Given the description of an element on the screen output the (x, y) to click on. 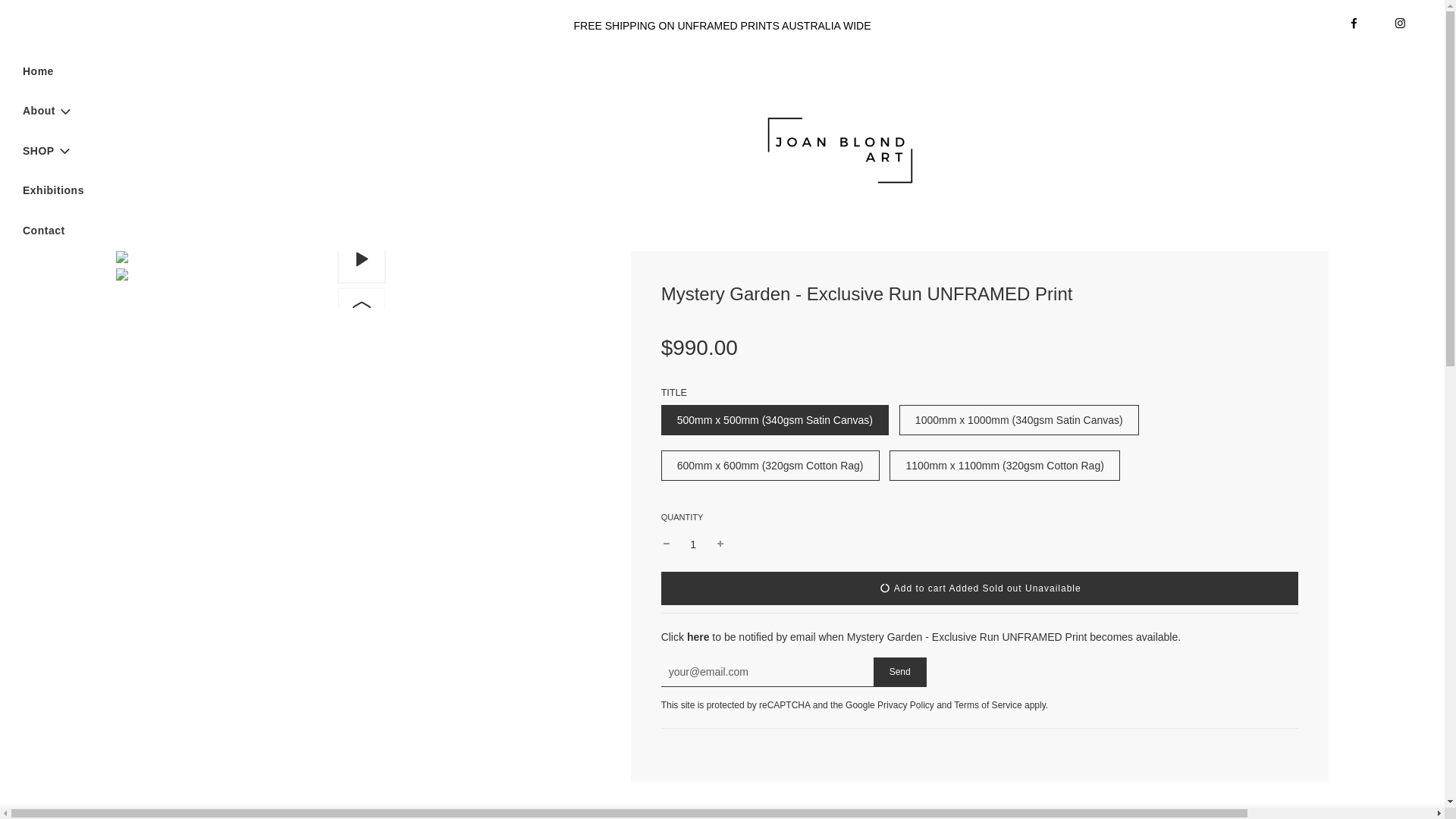
Contact (44, 230)
About (47, 110)
Exhibitions (53, 189)
Send (899, 672)
1 (693, 544)
SHOP (47, 151)
Home (38, 70)
